Given the description of an element on the screen output the (x, y) to click on. 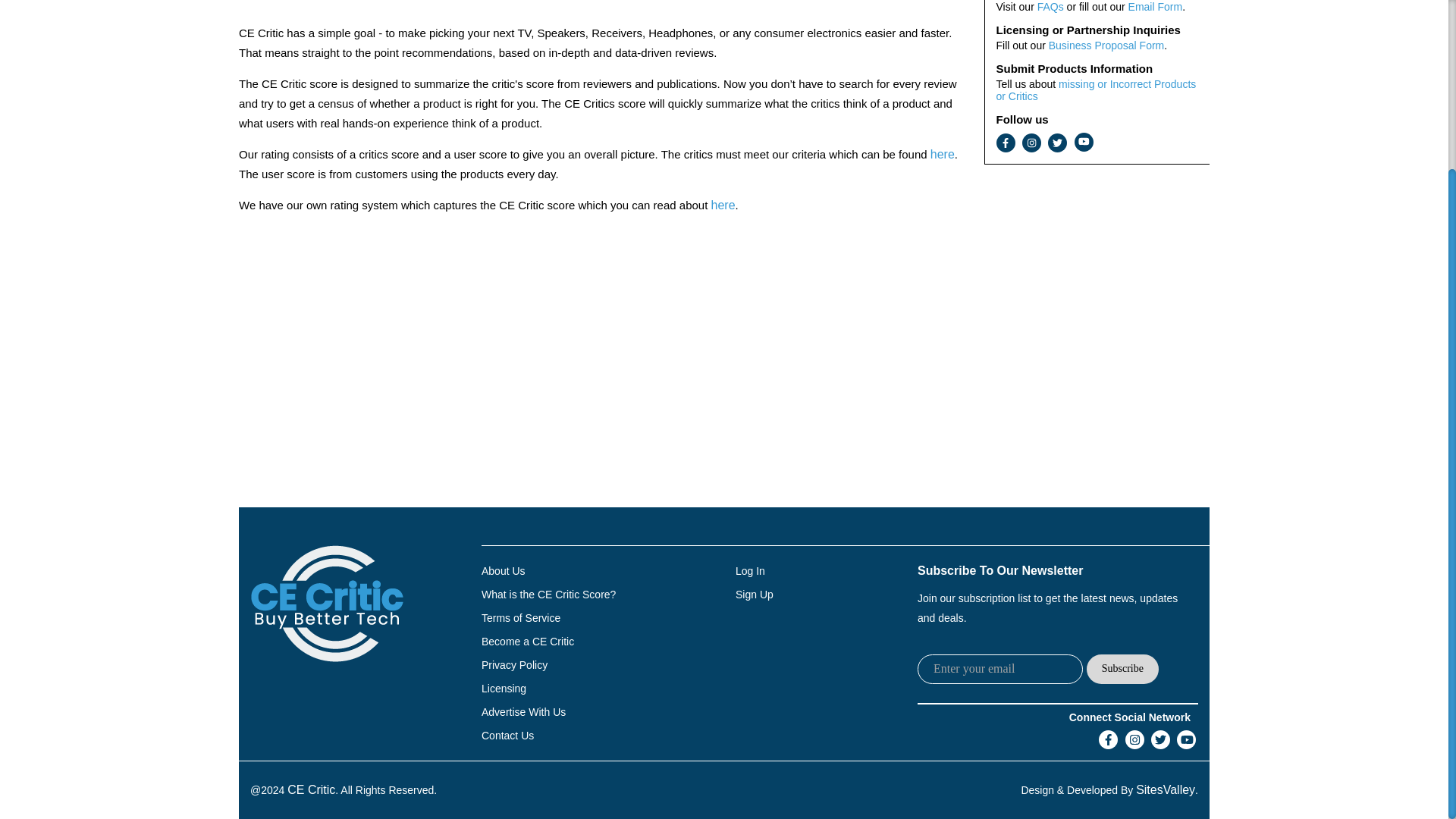
Click to sign-up for an account (754, 593)
Twitter (1160, 739)
Twitter (1057, 142)
Facebook (1004, 142)
Instagram (1031, 142)
Click to log into account (750, 570)
YouTube (1083, 141)
CE Critic (310, 790)
Instagram (1134, 739)
Facebook (1108, 739)
YouTube (1185, 739)
